Given the description of an element on the screen output the (x, y) to click on. 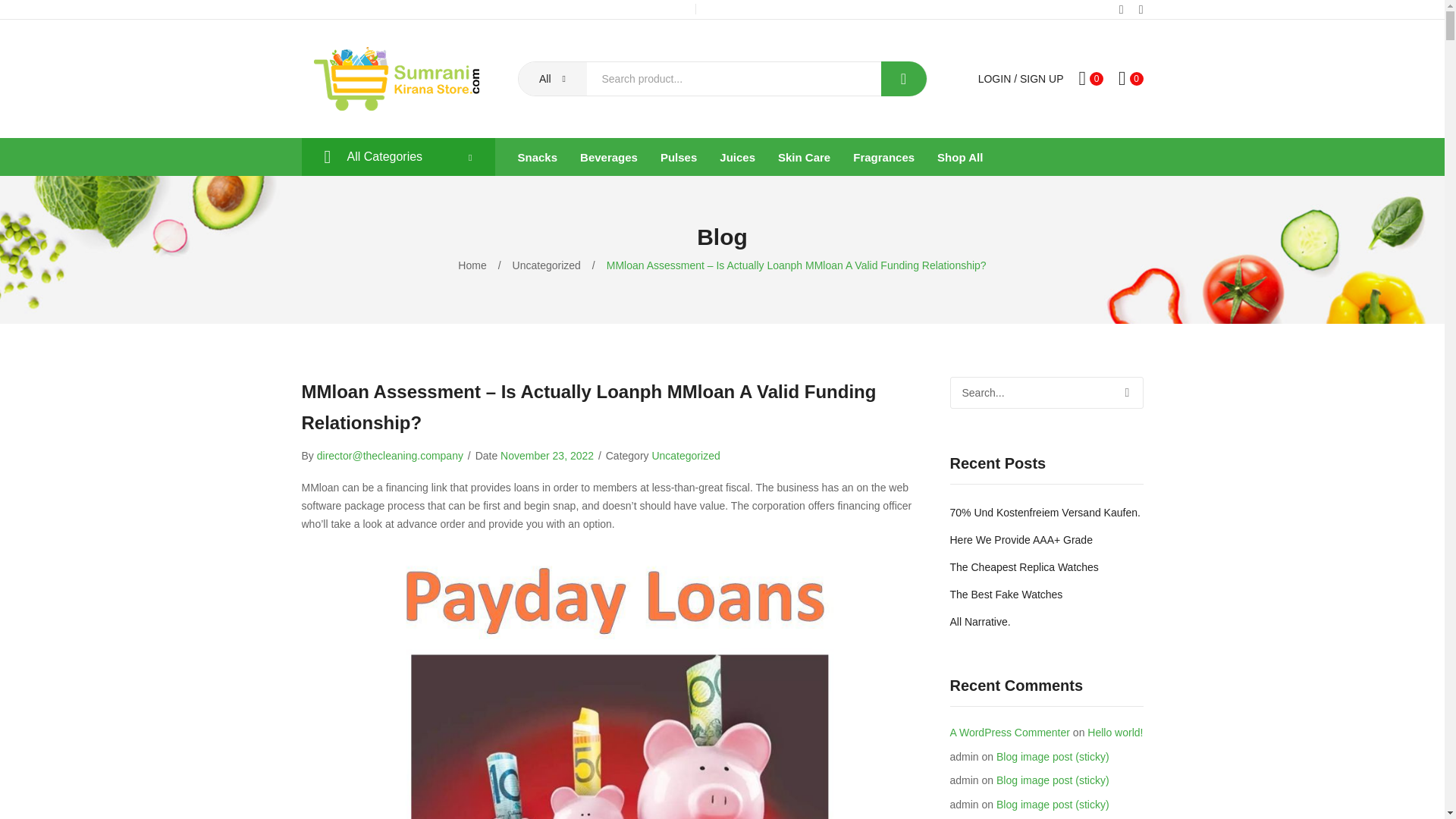
Login (994, 78)
Sumrani Kirana Store (396, 78)
